Given the description of an element on the screen output the (x, y) to click on. 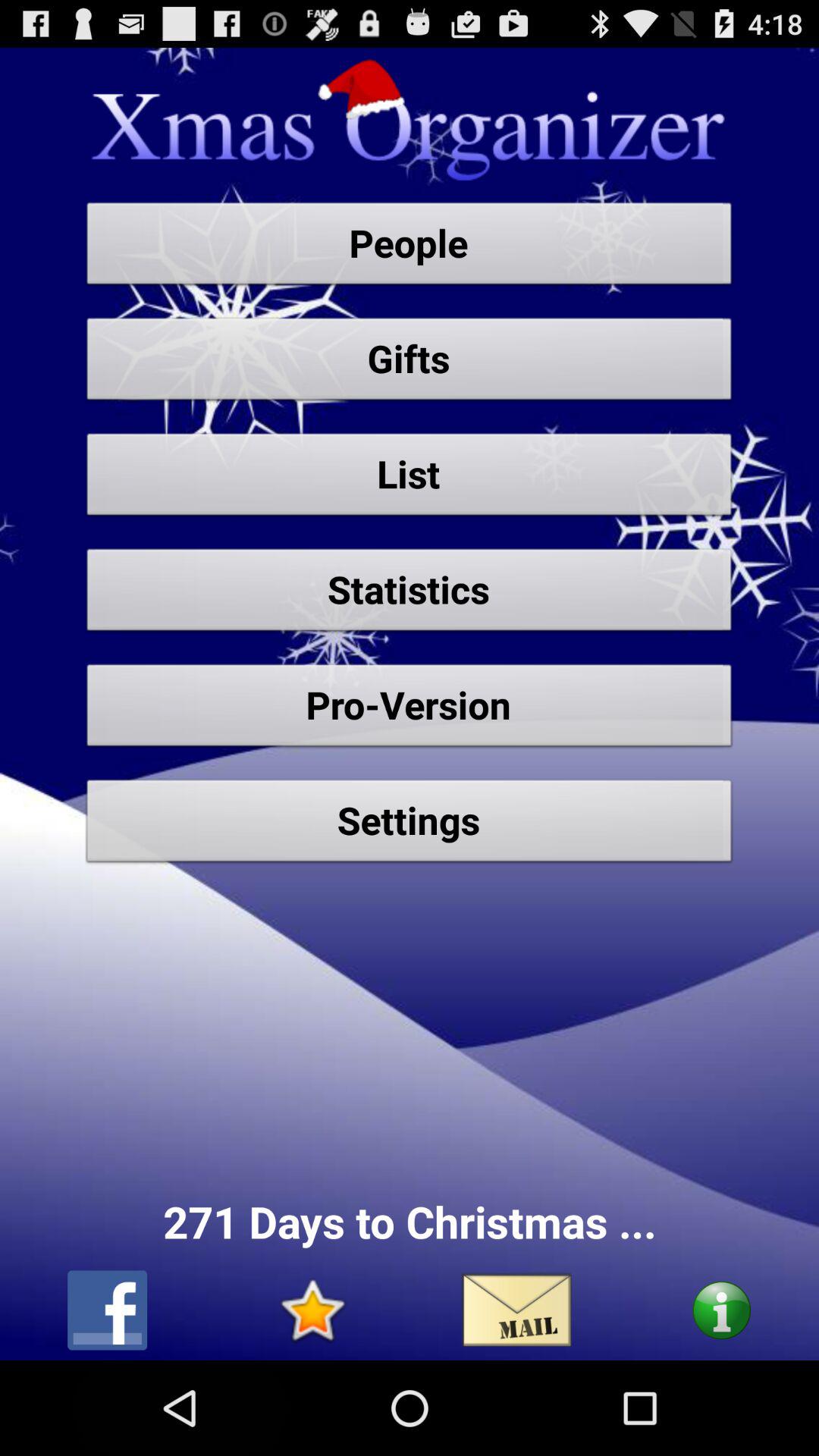
facebook (107, 1310)
